Given the description of an element on the screen output the (x, y) to click on. 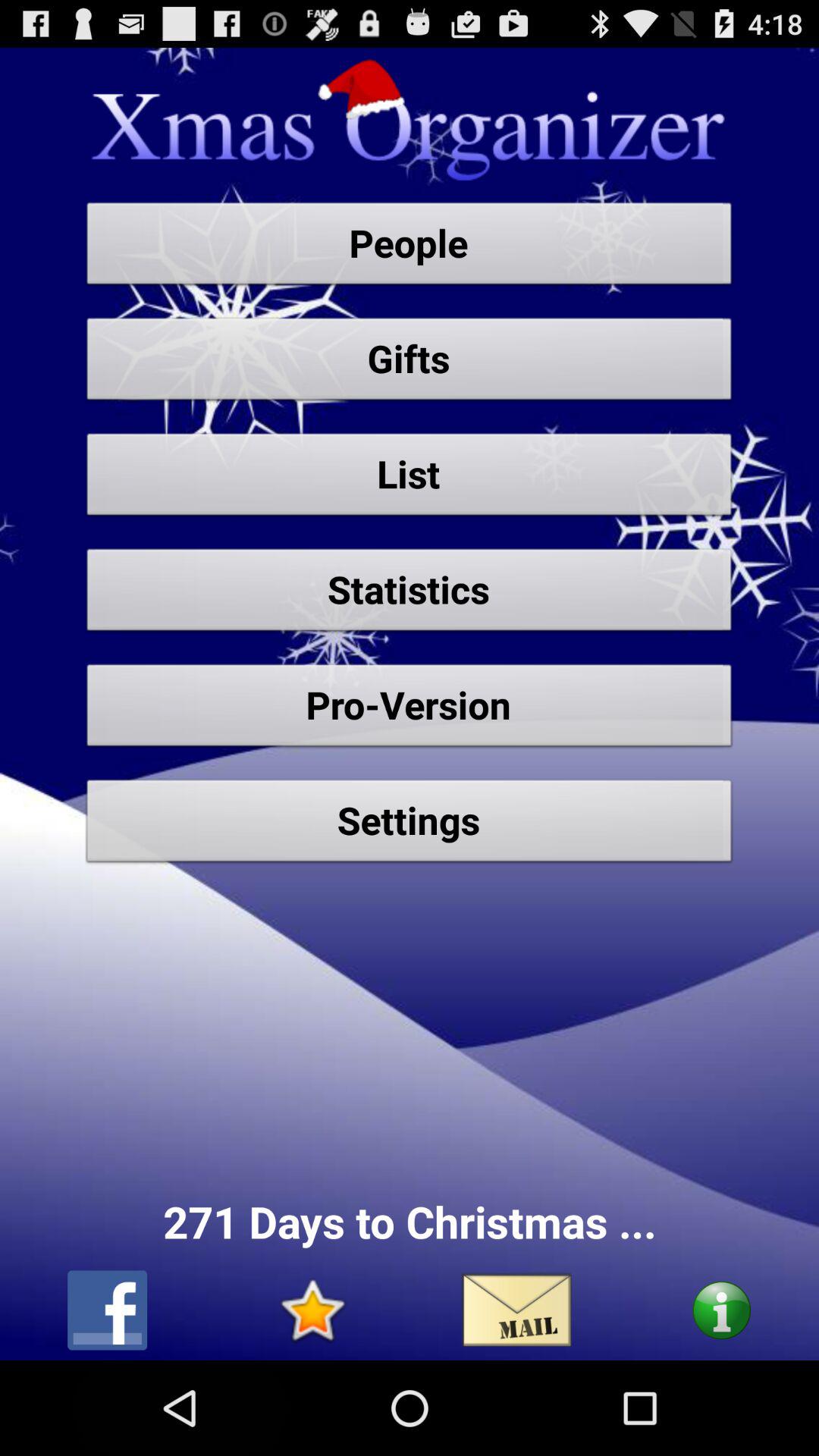
facebook (107, 1310)
